Given the description of an element on the screen output the (x, y) to click on. 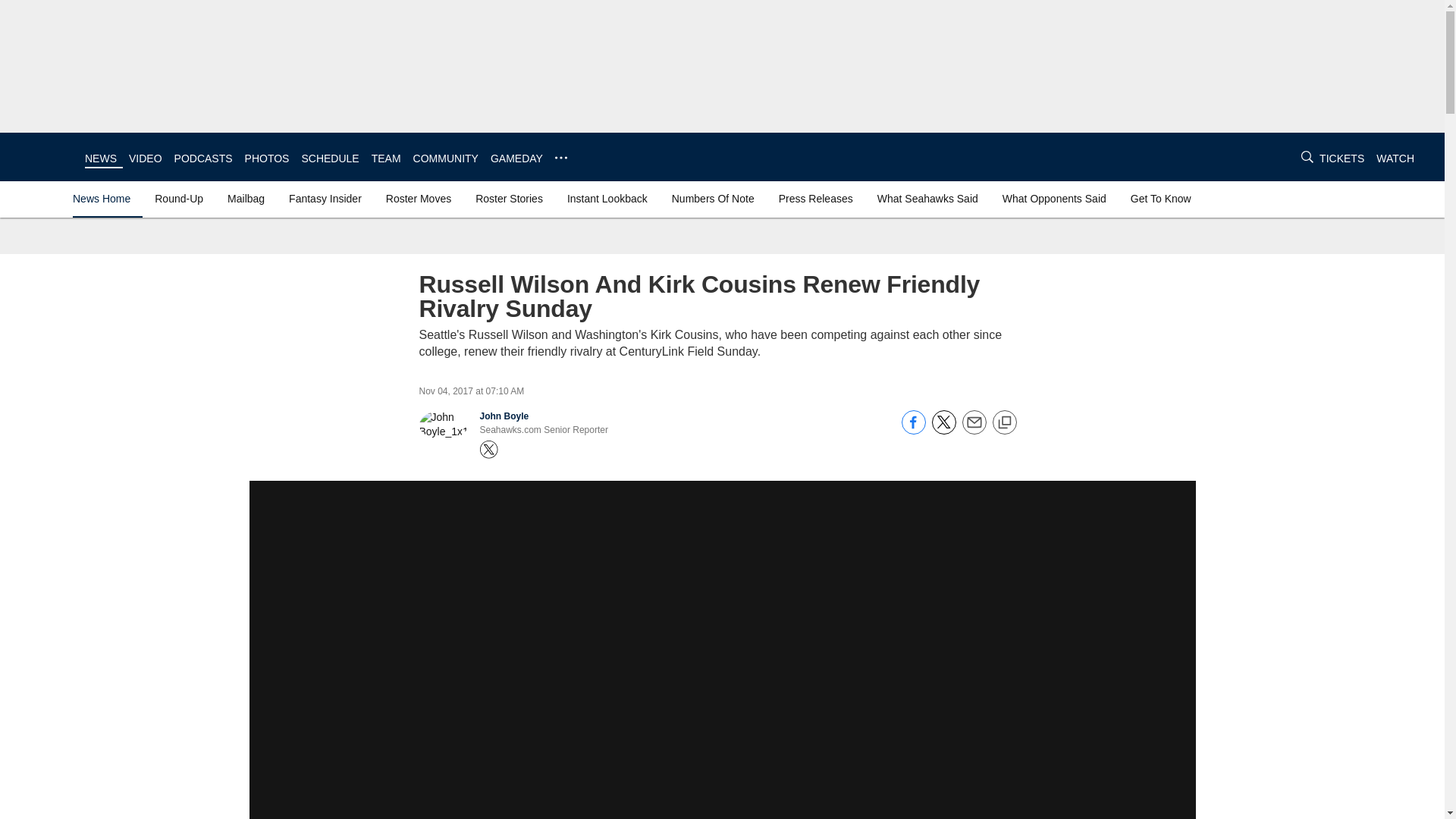
COMMUNITY (446, 158)
TICKETS (1341, 158)
Fantasy Insider (325, 198)
Link to club's homepage (42, 156)
TEAM (386, 158)
Roster Moves (418, 198)
SCHEDULE (329, 158)
TEAM (386, 158)
GAMEDAY (516, 158)
Mailbag (245, 198)
